Given the description of an element on the screen output the (x, y) to click on. 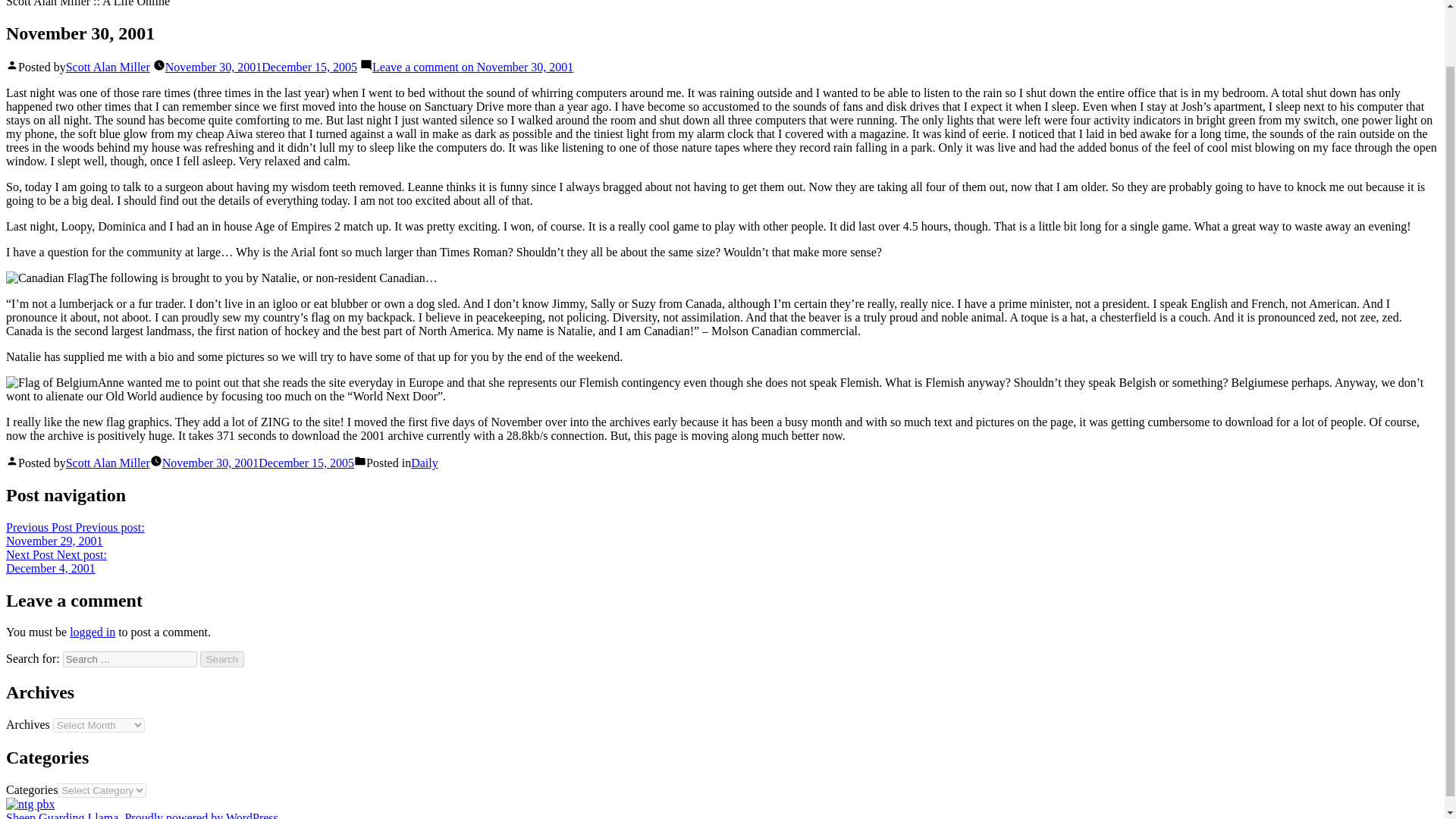
Scott Alan Miller (107, 66)
Search (222, 659)
Search (222, 659)
Daily (424, 462)
logged in (92, 631)
November 30, 2001December 15, 2005 (260, 66)
Search (222, 659)
Leave a comment on November 30, 2001 (472, 66)
November 30, 2001December 15, 2005 (257, 462)
Scott Alan Miller (107, 462)
